Given the description of an element on the screen output the (x, y) to click on. 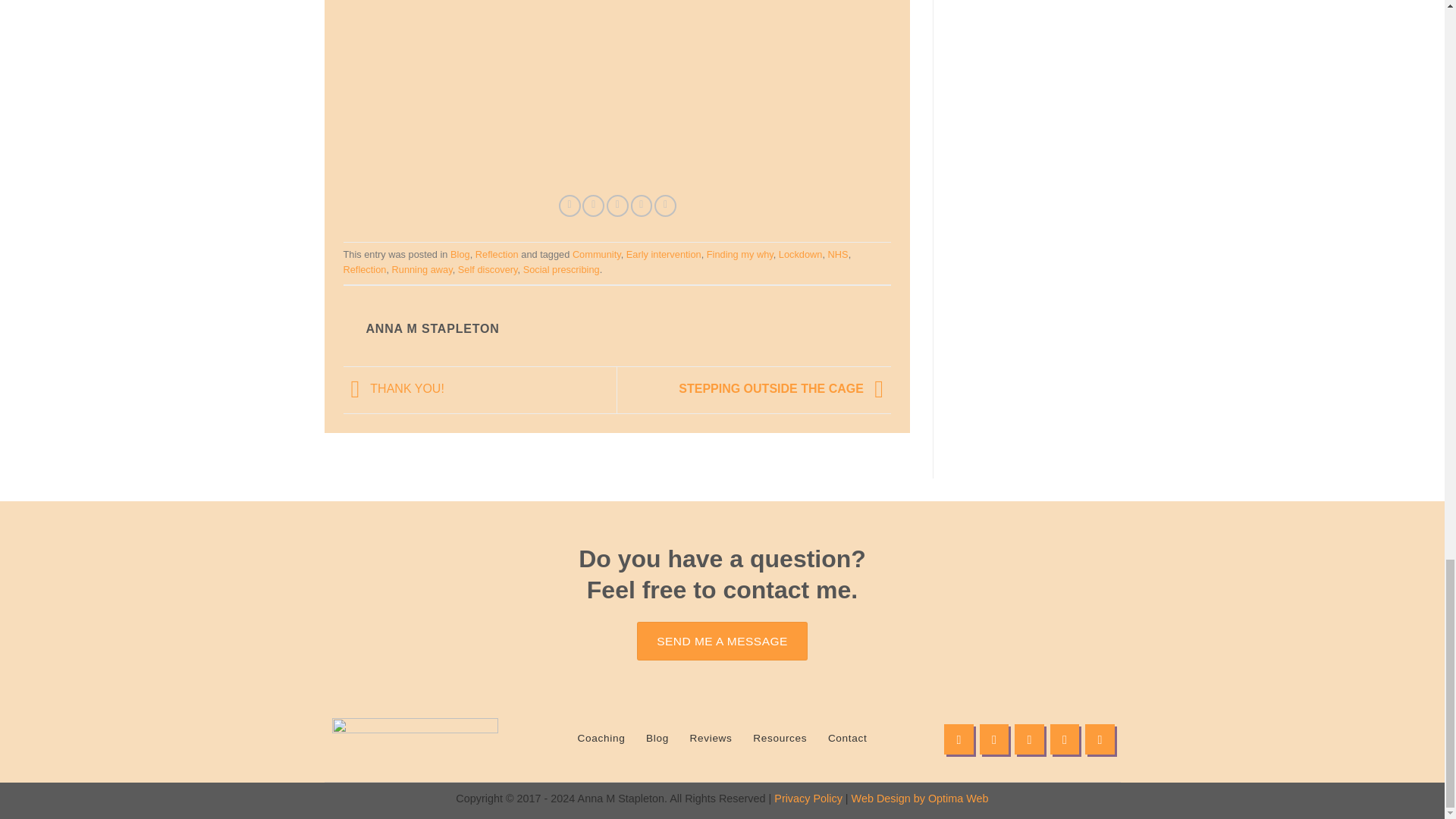
Share on Facebook (569, 205)
Share on LinkedIn (665, 205)
Follow on Twitter (1028, 738)
Finding my why (739, 254)
NHS (838, 254)
Lockdown (800, 254)
Follow on Instagram (994, 738)
Blog (459, 254)
Email to a Friend (617, 205)
Early intervention (663, 254)
